Given the description of an element on the screen output the (x, y) to click on. 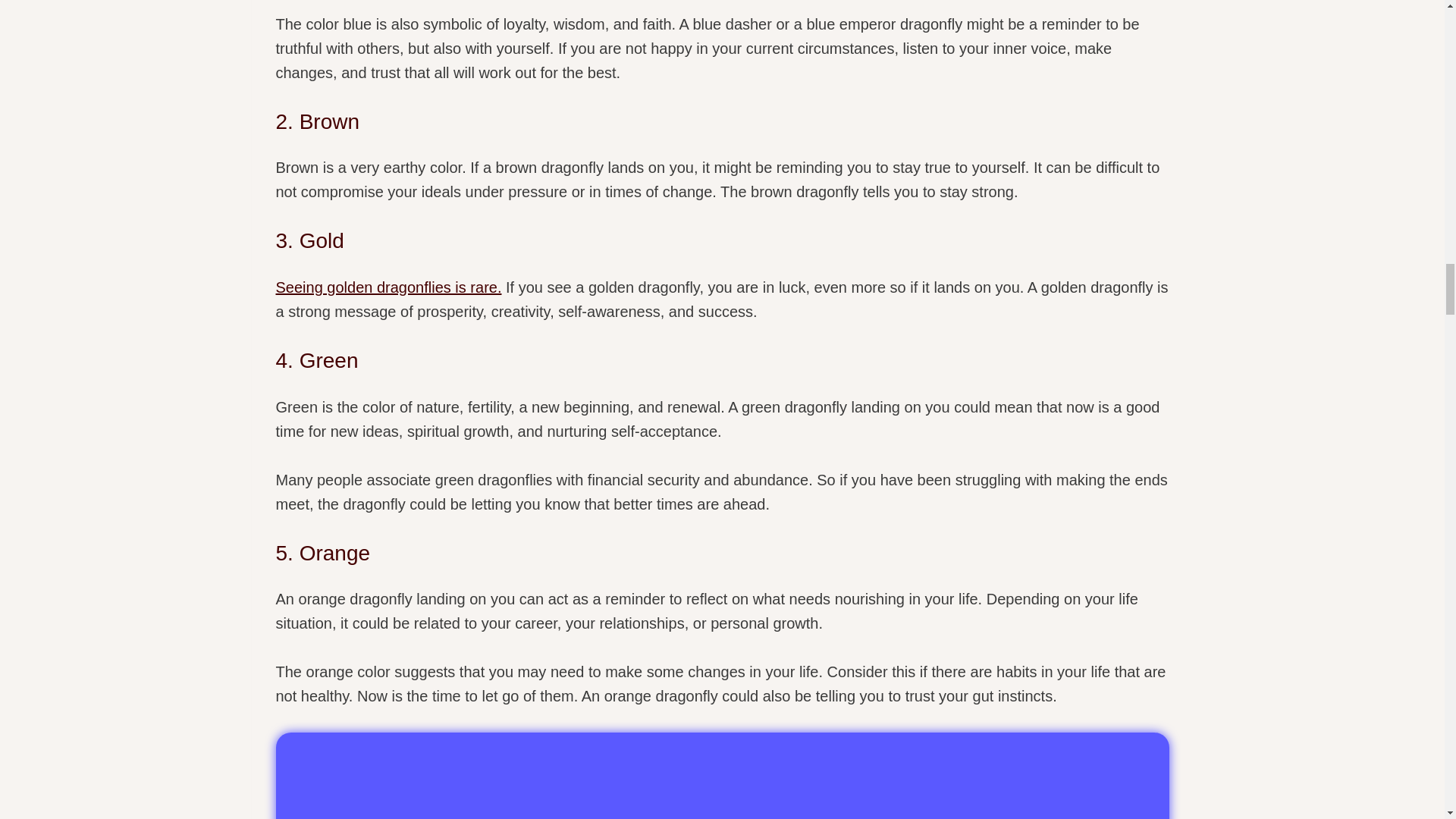
Seeing golden dragonflies is rare. (389, 287)
